Given the description of an element on the screen output the (x, y) to click on. 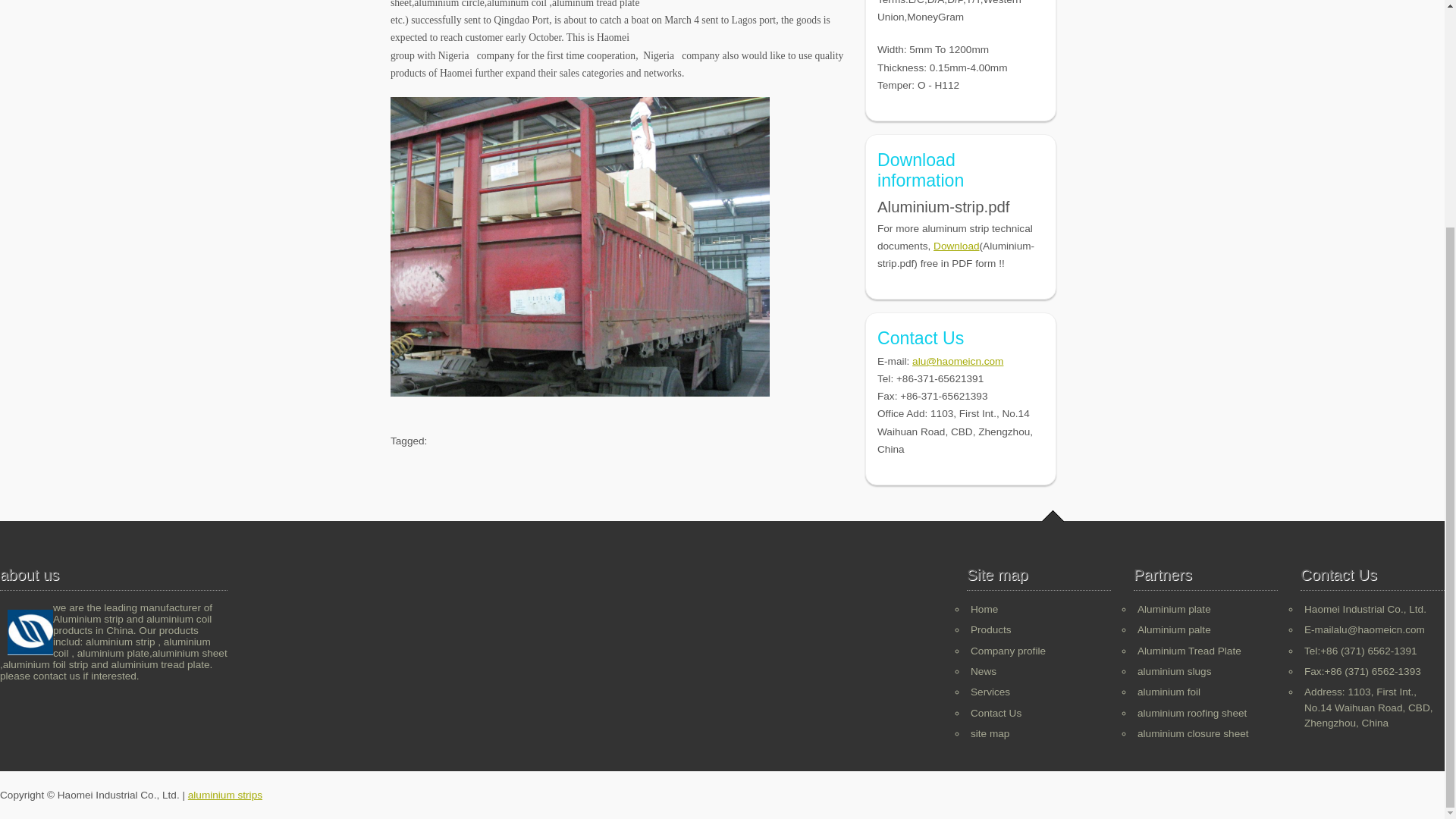
Aluminium palte (1174, 629)
Services (990, 691)
Download (955, 245)
Company profile (1008, 650)
Contact Us (996, 713)
aluminium roofing sheet (1191, 713)
aluminium slugs (1174, 671)
Scroll to the top (1053, 515)
Aluminum strip.pdf (955, 245)
aluminium foil (1168, 691)
